Given the description of an element on the screen output the (x, y) to click on. 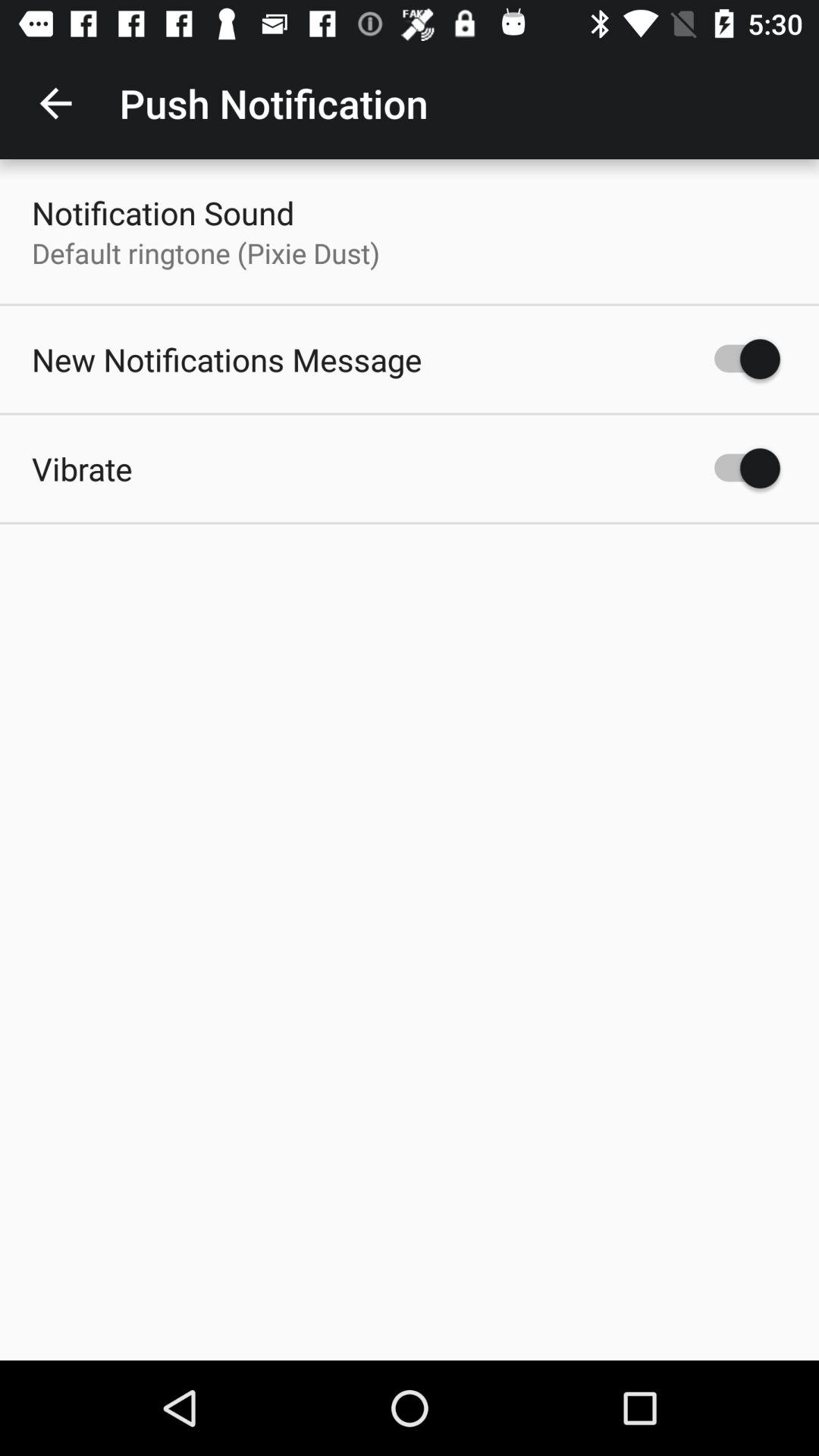
turn off the app to the left of the push notification icon (55, 103)
